Given the description of an element on the screen output the (x, y) to click on. 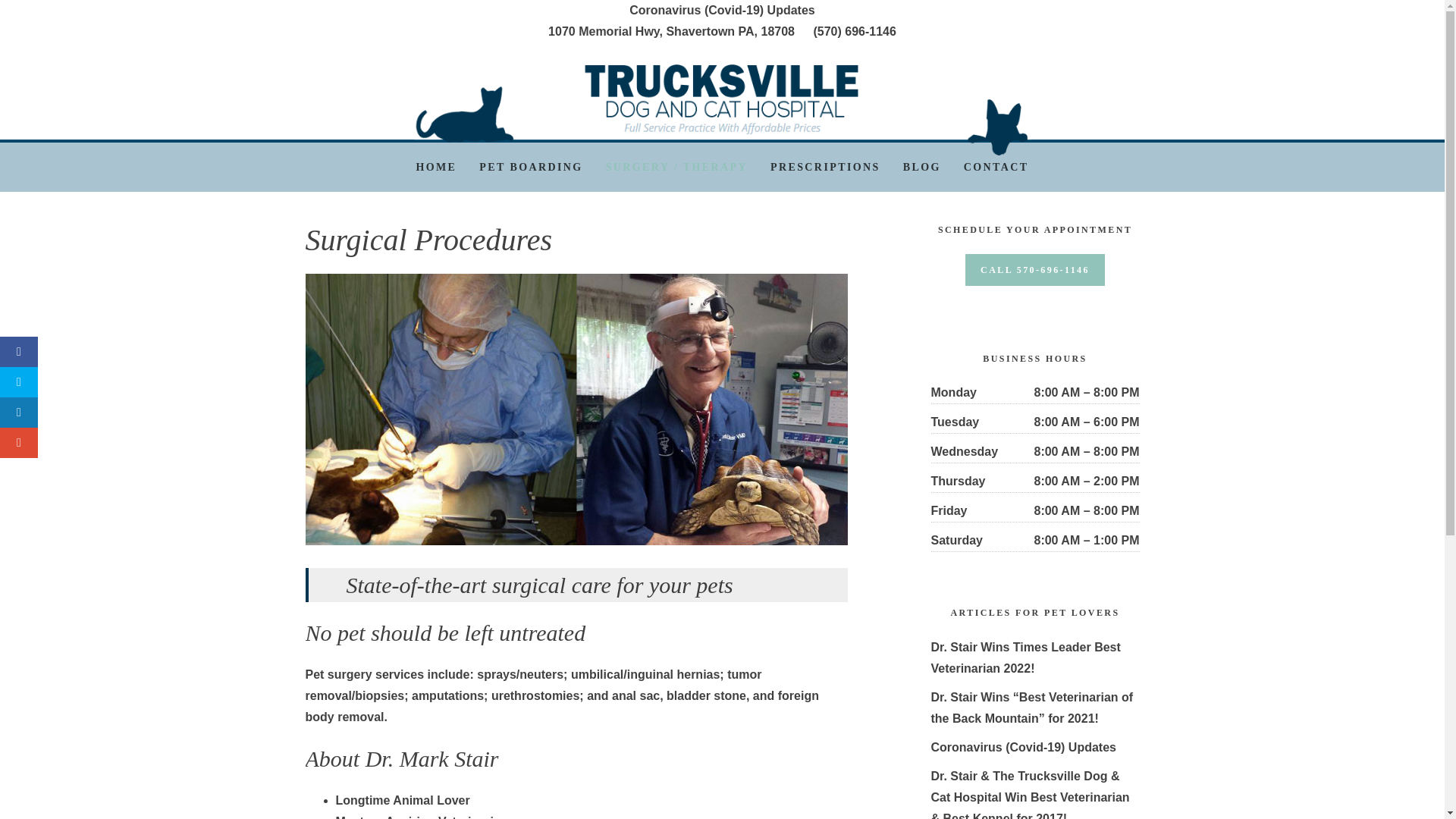
Dr. Stair Wins Times Leader Best Veterinarian 2022! (1026, 657)
PET BOARDING (530, 166)
PRESCRIPTIONS (824, 166)
BLOG (921, 166)
1070 Memorial Hwy, Shavertown PA, 18708 (671, 31)
HOME (435, 166)
CONTACT (996, 166)
CALL 570-696-1146 (1035, 269)
